Given the description of an element on the screen output the (x, y) to click on. 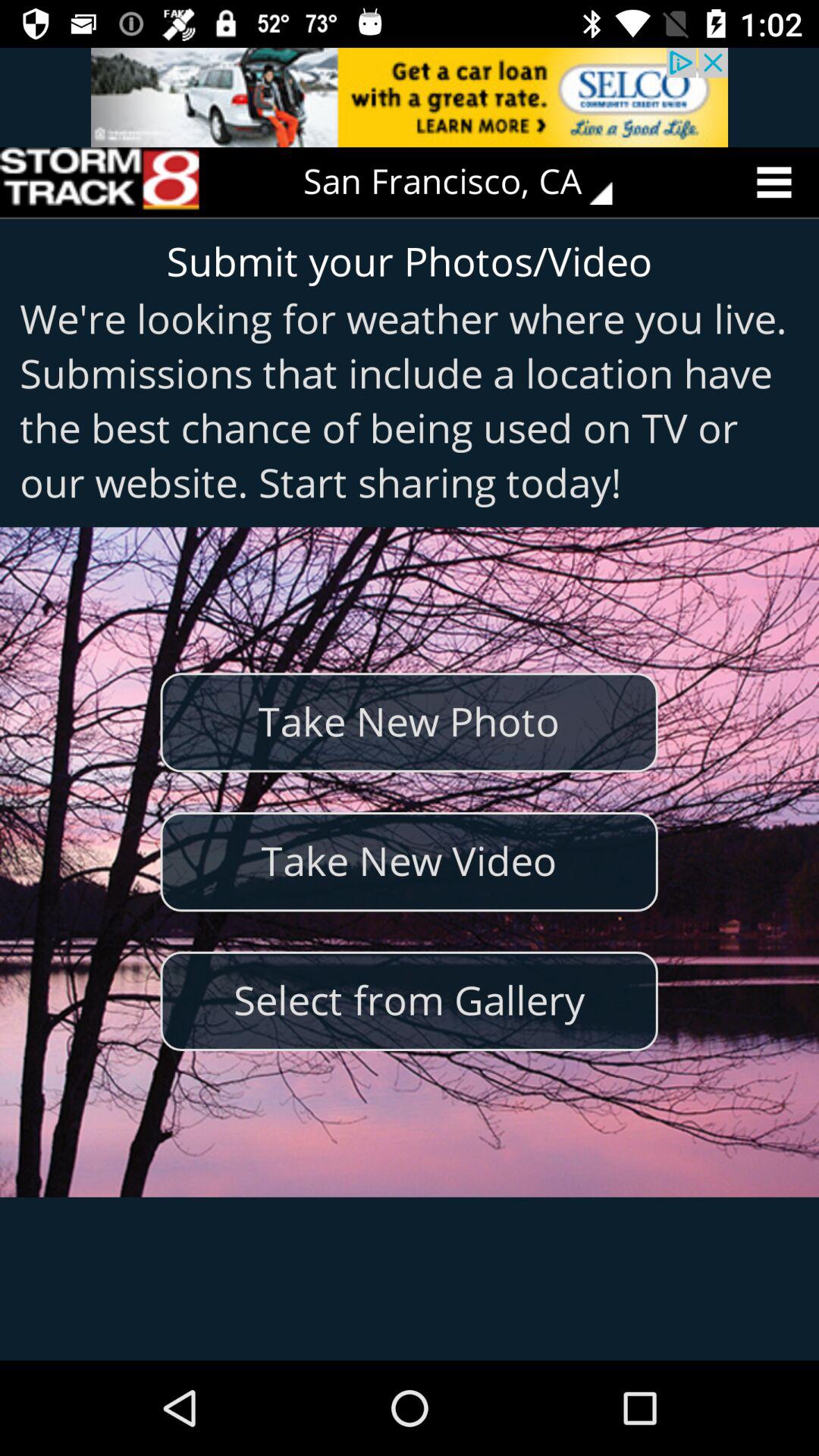
select san francisco, ca icon (468, 182)
